Given the description of an element on the screen output the (x, y) to click on. 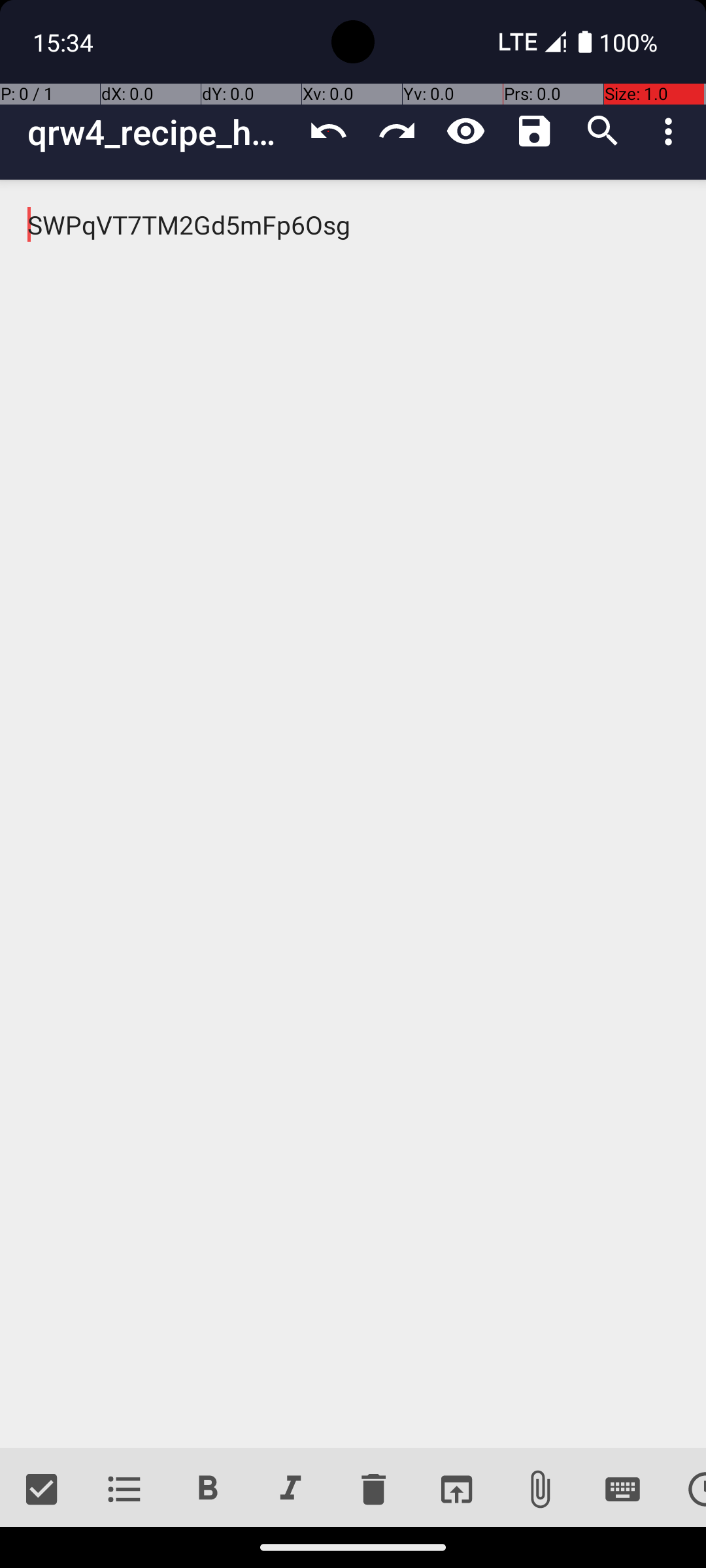
qrw4_recipe_homemade_pizza Element type: android.widget.TextView (160, 131)
SWPqVT7TM2Gd5mFp6Osg Element type: android.widget.EditText (353, 813)
